Given the description of an element on the screen output the (x, y) to click on. 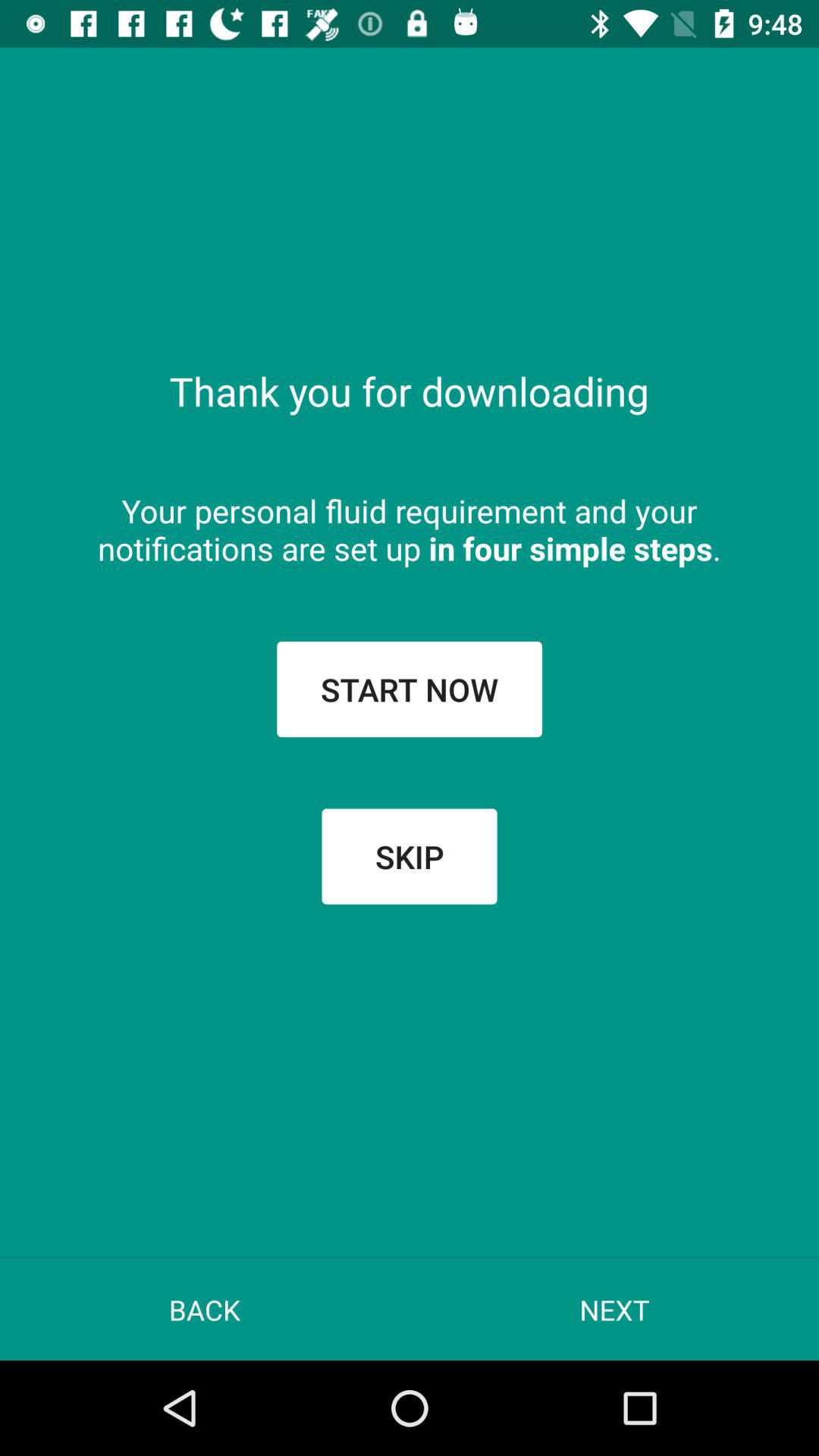
choose back icon (204, 1309)
